Given the description of an element on the screen output the (x, y) to click on. 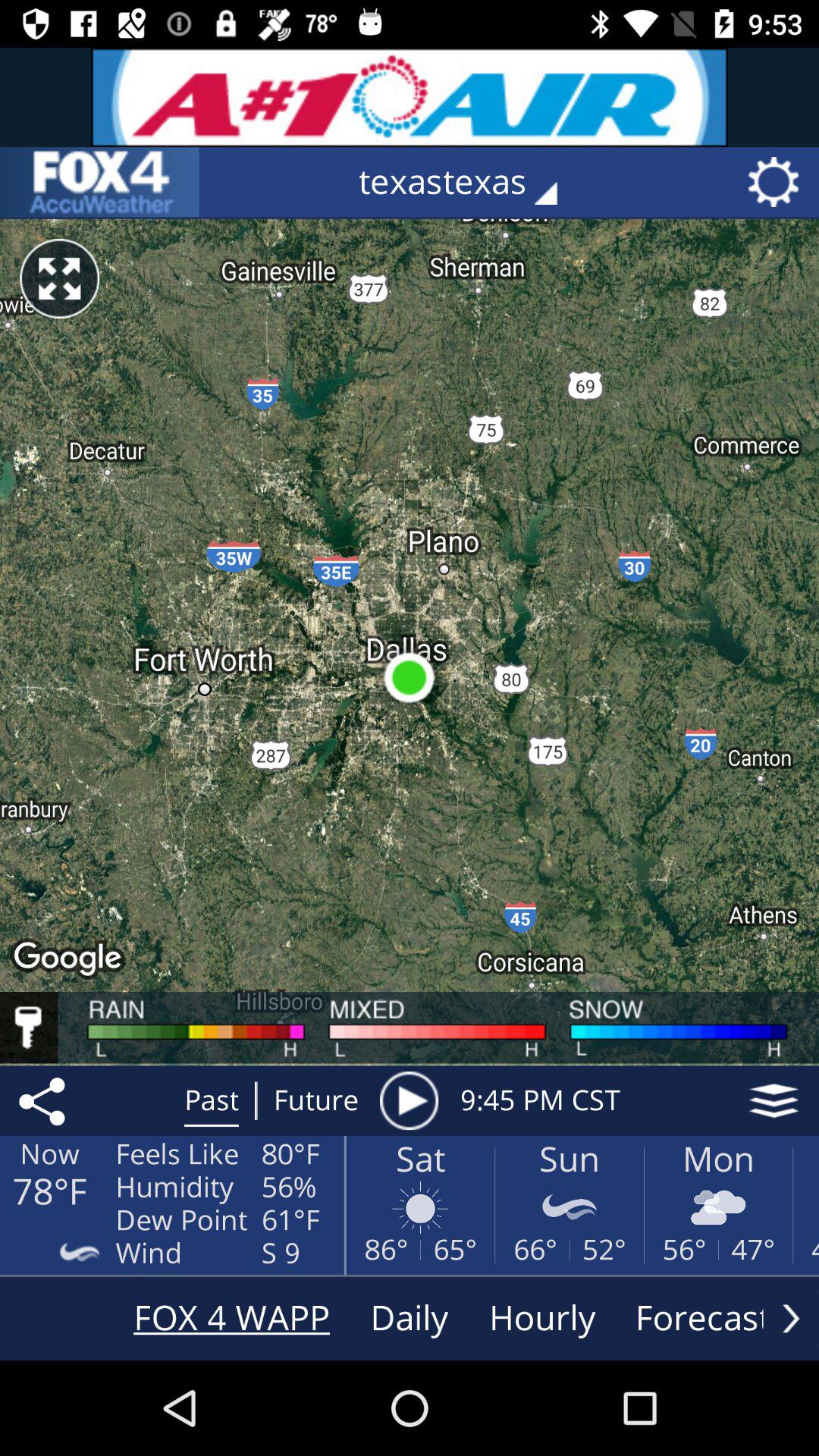
next page arrow (791, 1318)
